Given the description of an element on the screen output the (x, y) to click on. 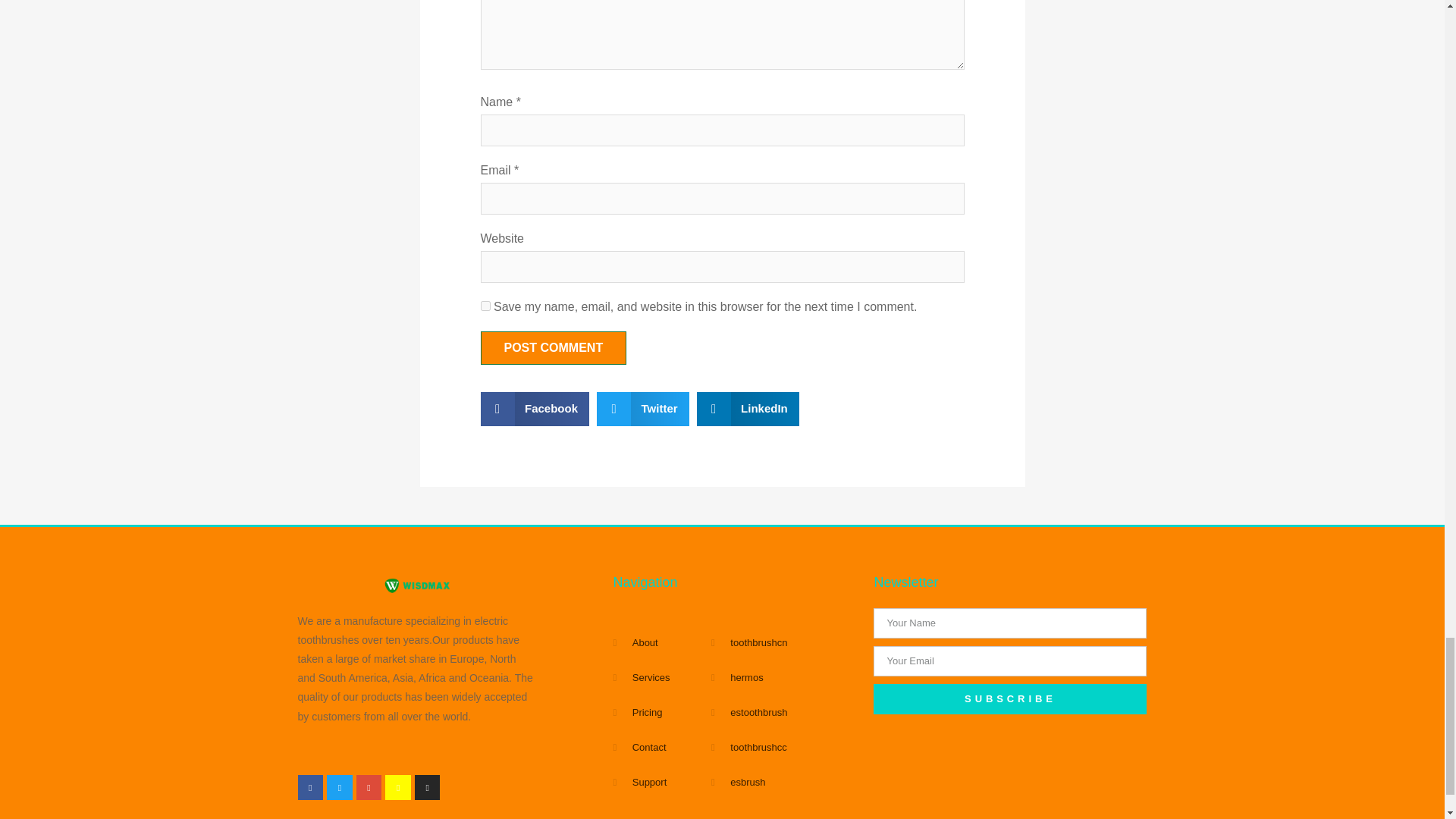
toothbrushcn (785, 642)
hermos (785, 677)
Post Comment (553, 347)
toothbrushcc (785, 747)
esbrush (785, 782)
estoothbrush (785, 712)
Post Comment (553, 347)
SUBSCRIBE (1010, 698)
yes (485, 306)
